Given the description of an element on the screen output the (x, y) to click on. 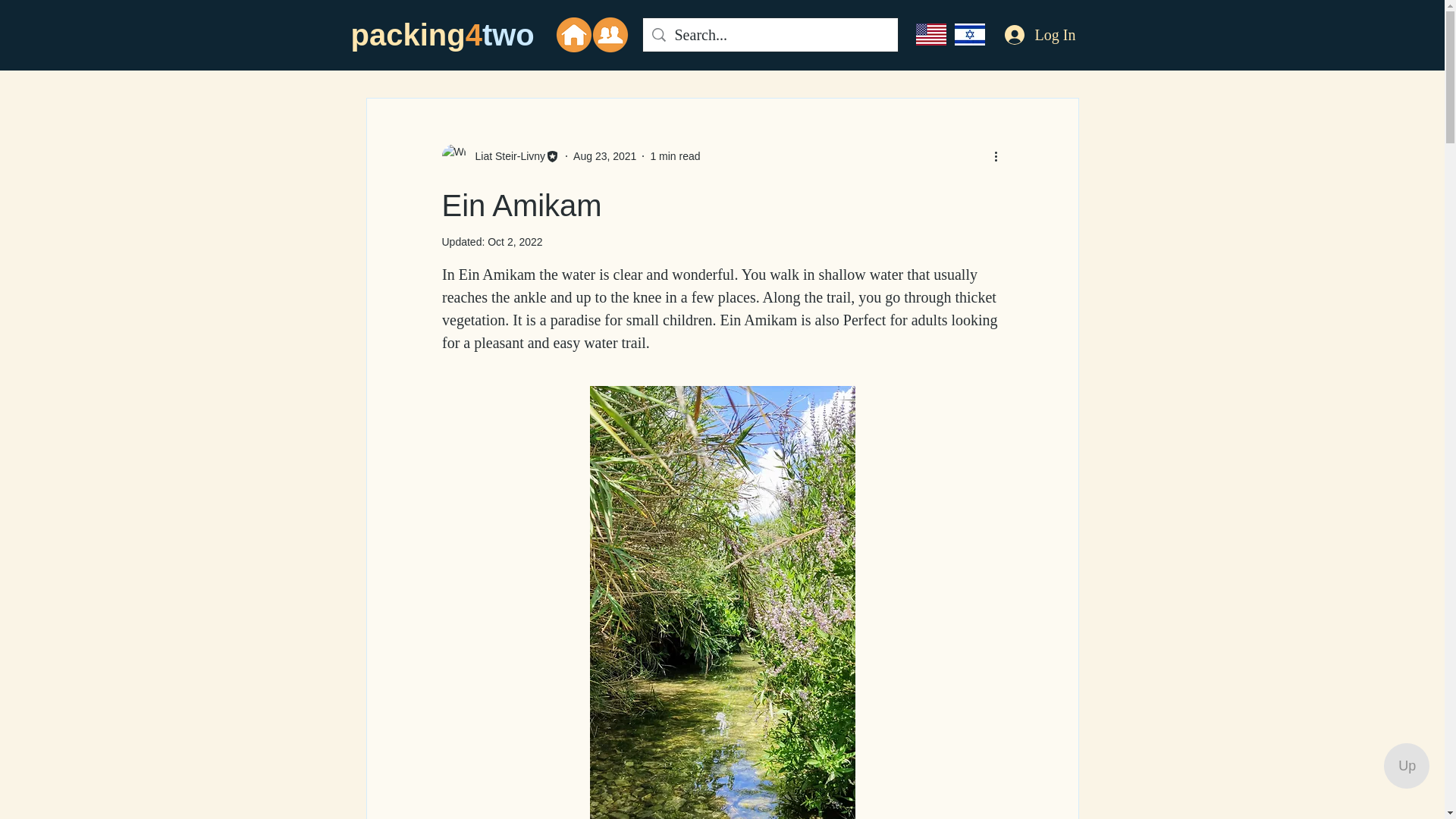
Log In (1038, 34)
Up (1406, 765)
packing (407, 34)
Aug 23, 2021 (604, 155)
1 min read (674, 155)
Liat Steir-Livny (500, 156)
Oct 2, 2022 (514, 241)
two (507, 34)
Liat Steir-Livny (504, 156)
